Given the description of an element on the screen output the (x, y) to click on. 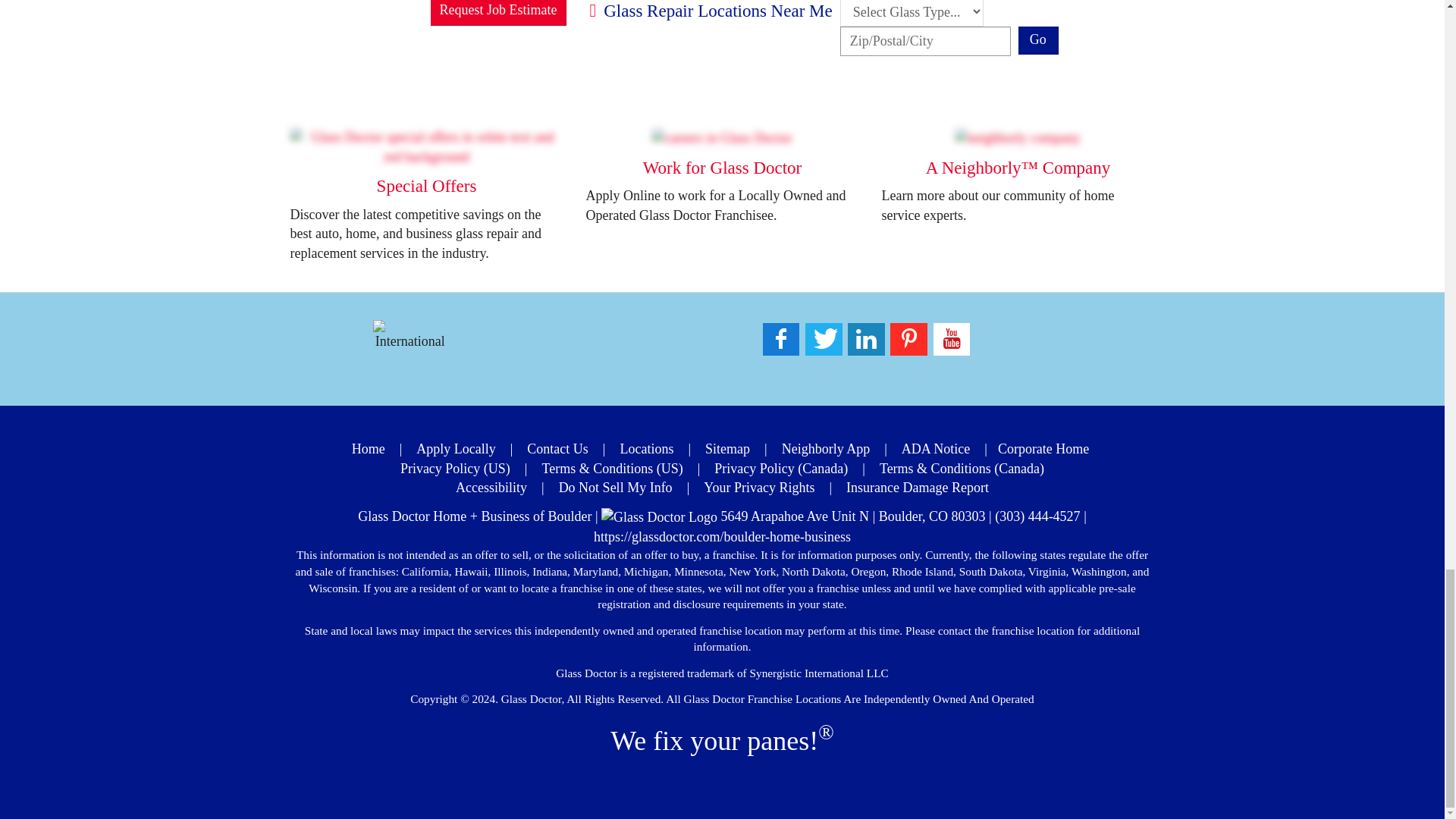
See the Latest Special Offers from Glass Doctor! (425, 147)
Neighborly Home Services (1017, 138)
Follow on Facebook (780, 338)
Glass Doctor - Proud Member of IFA (409, 335)
Work for Glass Doctor (722, 138)
Open in new tab (722, 167)
Open in new tab (722, 136)
Enter a zip code or city. (925, 41)
Follow on LinkedIn (865, 338)
Follow on Twitter (823, 338)
